Given the description of an element on the screen output the (x, y) to click on. 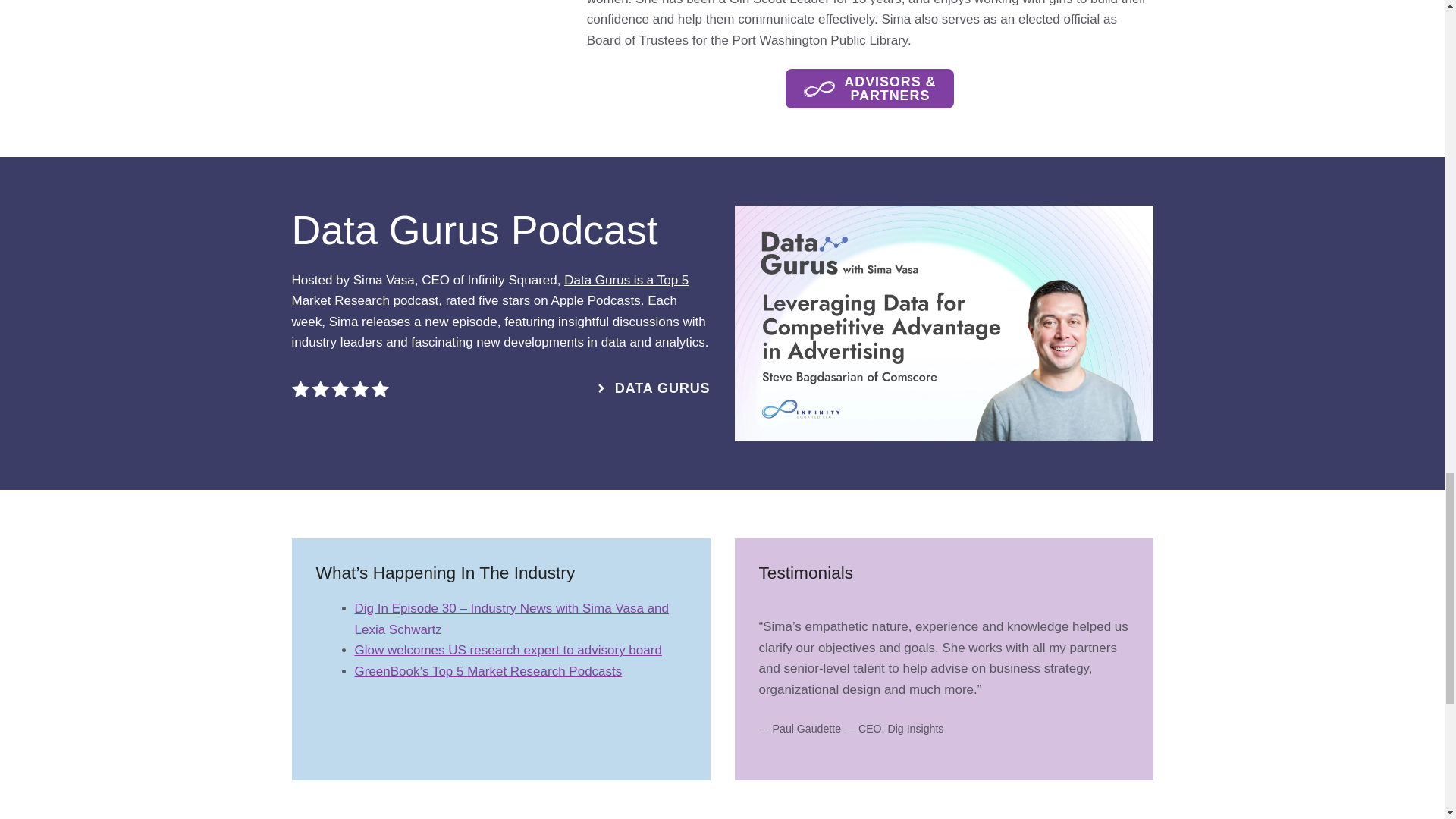
Data Gurus Podcast (474, 229)
DATA GURUS (652, 388)
Data Gurus is a Top 5 Market Research podcast (489, 290)
Glow welcomes US research expert to advisory board (508, 649)
